Given the description of an element on the screen output the (x, y) to click on. 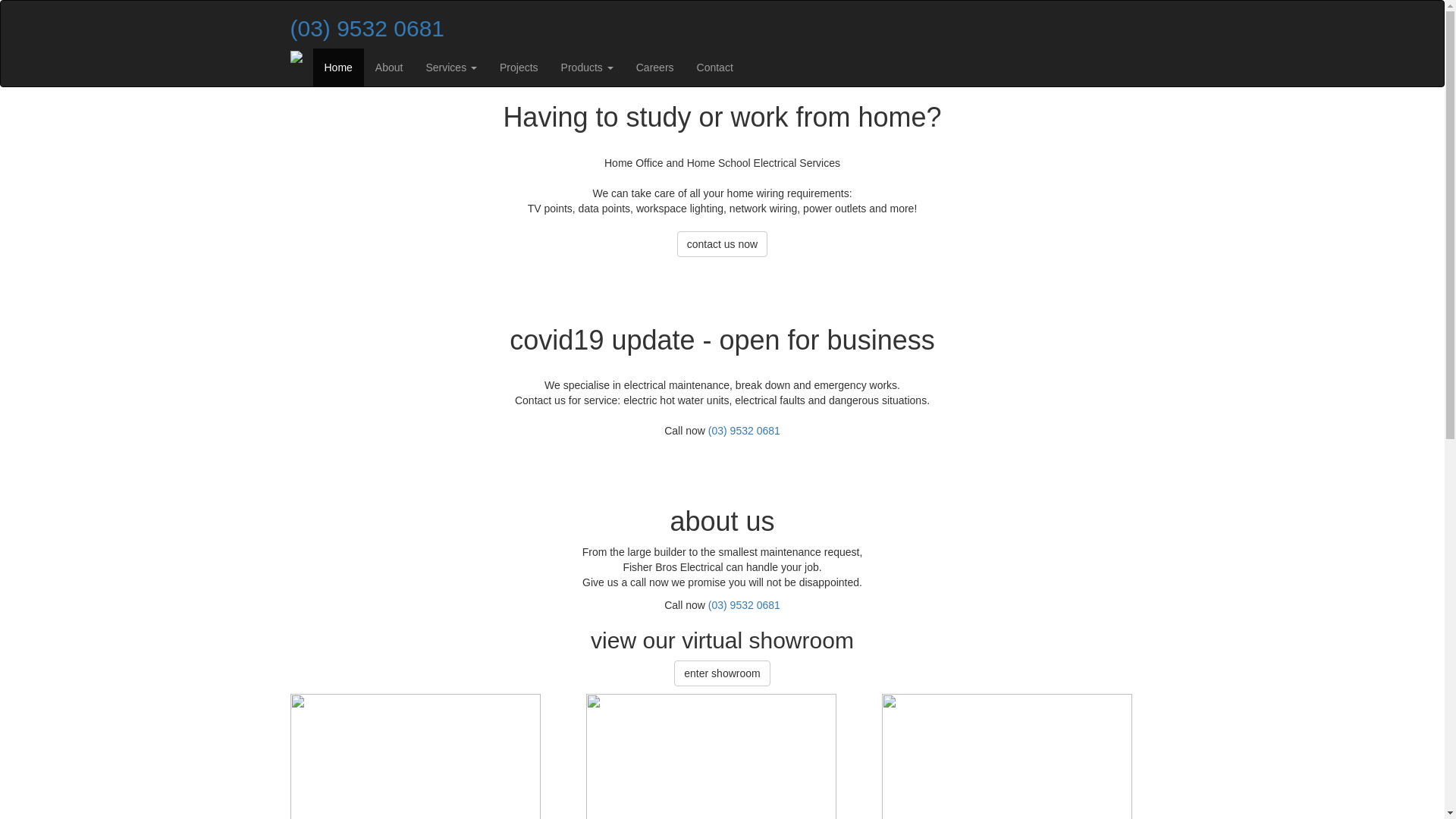
Projects Element type: text (518, 67)
contact us now Element type: text (722, 244)
Contact Element type: text (714, 67)
Home Element type: text (337, 67)
Products Element type: text (586, 67)
(03) 9532 0681 Element type: text (744, 605)
About Element type: text (389, 67)
Services Element type: text (451, 67)
Careers Element type: text (654, 67)
(03) 9532 0681 Element type: text (366, 27)
enter showroom Element type: text (721, 673)
(03) 9532 0681 Element type: text (744, 430)
